Given the description of an element on the screen output the (x, y) to click on. 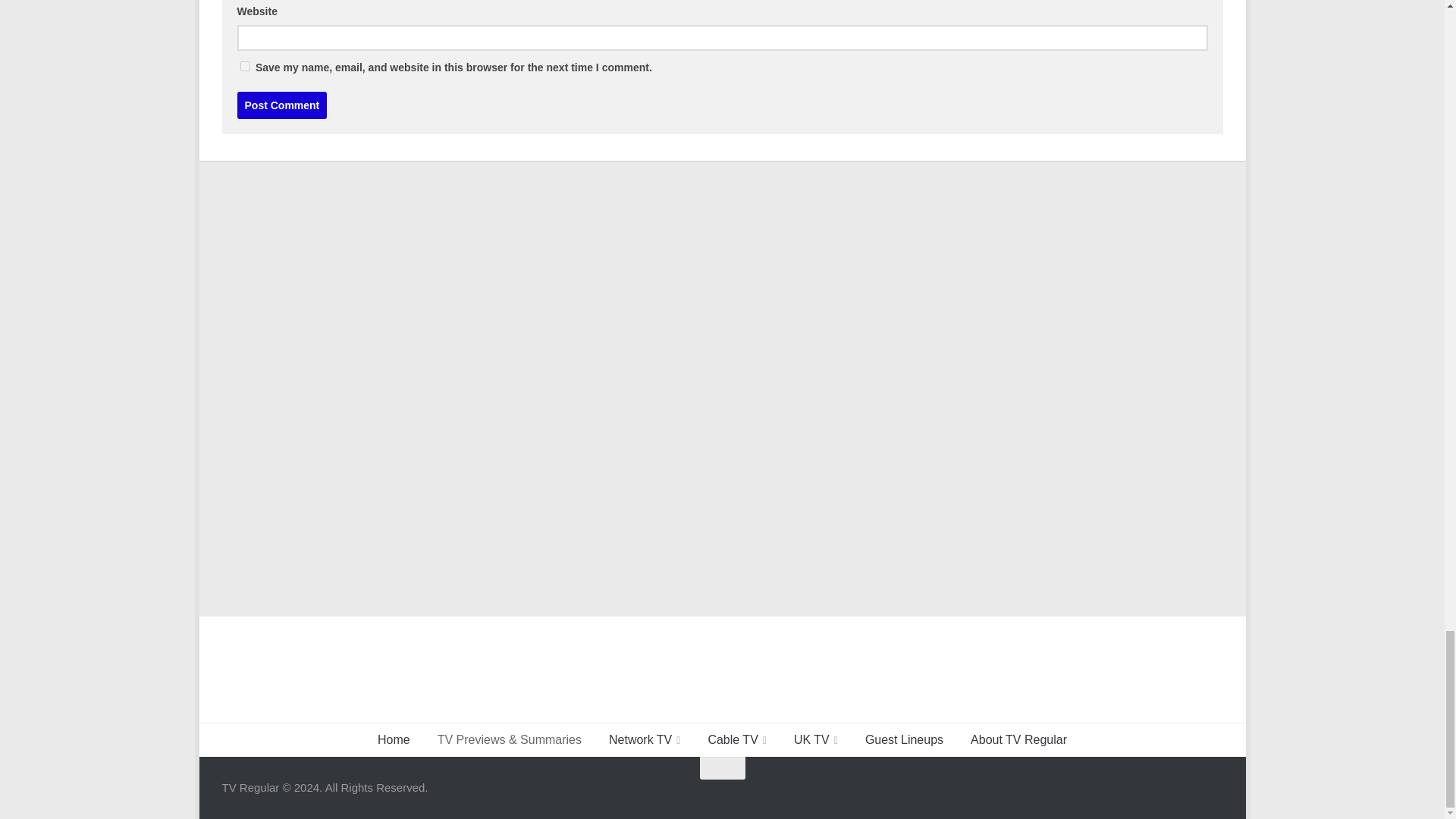
Post Comment (280, 104)
yes (244, 66)
